Given the description of an element on the screen output the (x, y) to click on. 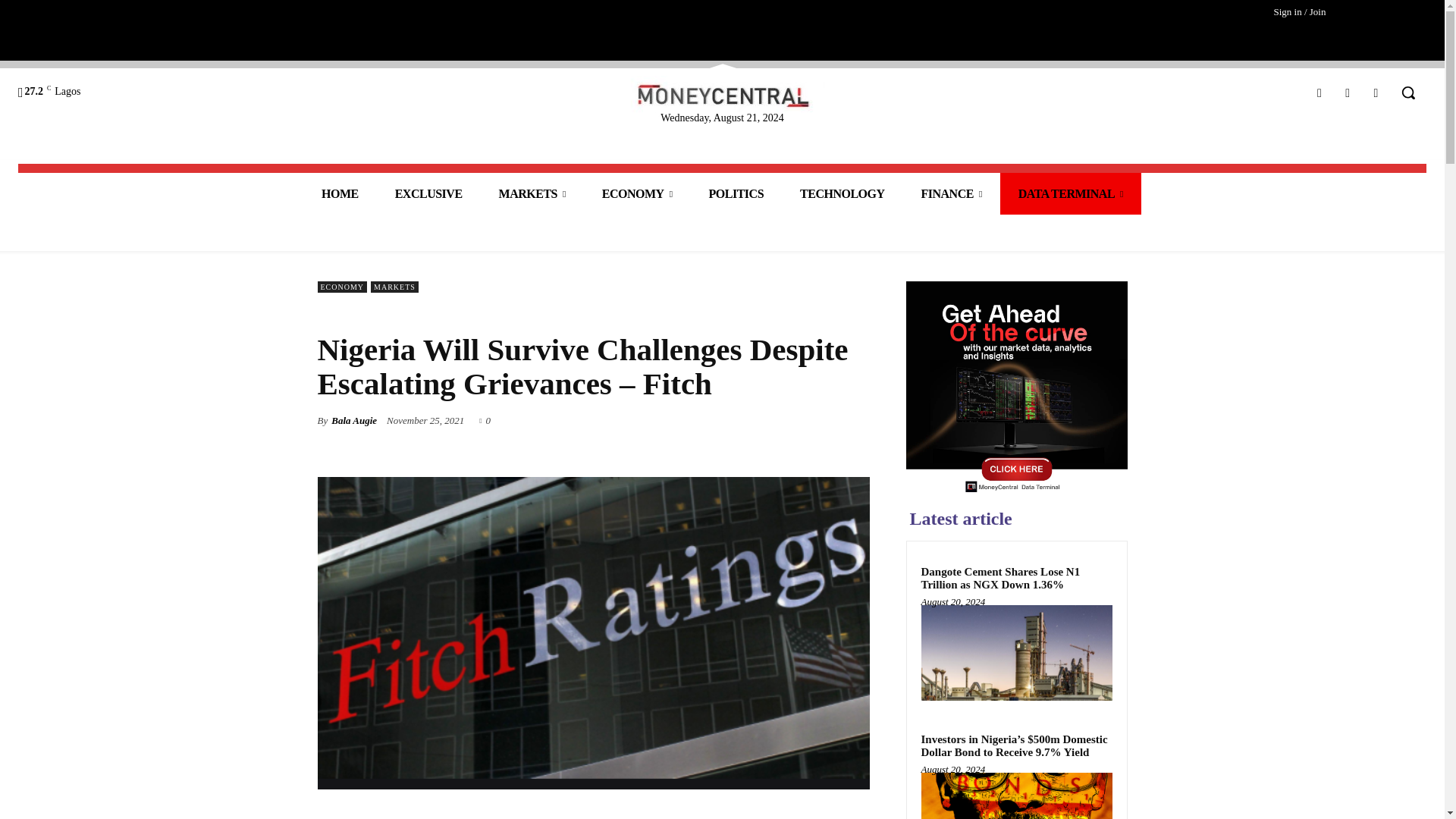
EXCLUSIVE (428, 193)
MARKETS (531, 193)
HOME (339, 193)
Twitter (1375, 92)
Facebook (1318, 92)
Instagram (1348, 92)
